Given the description of an element on the screen output the (x, y) to click on. 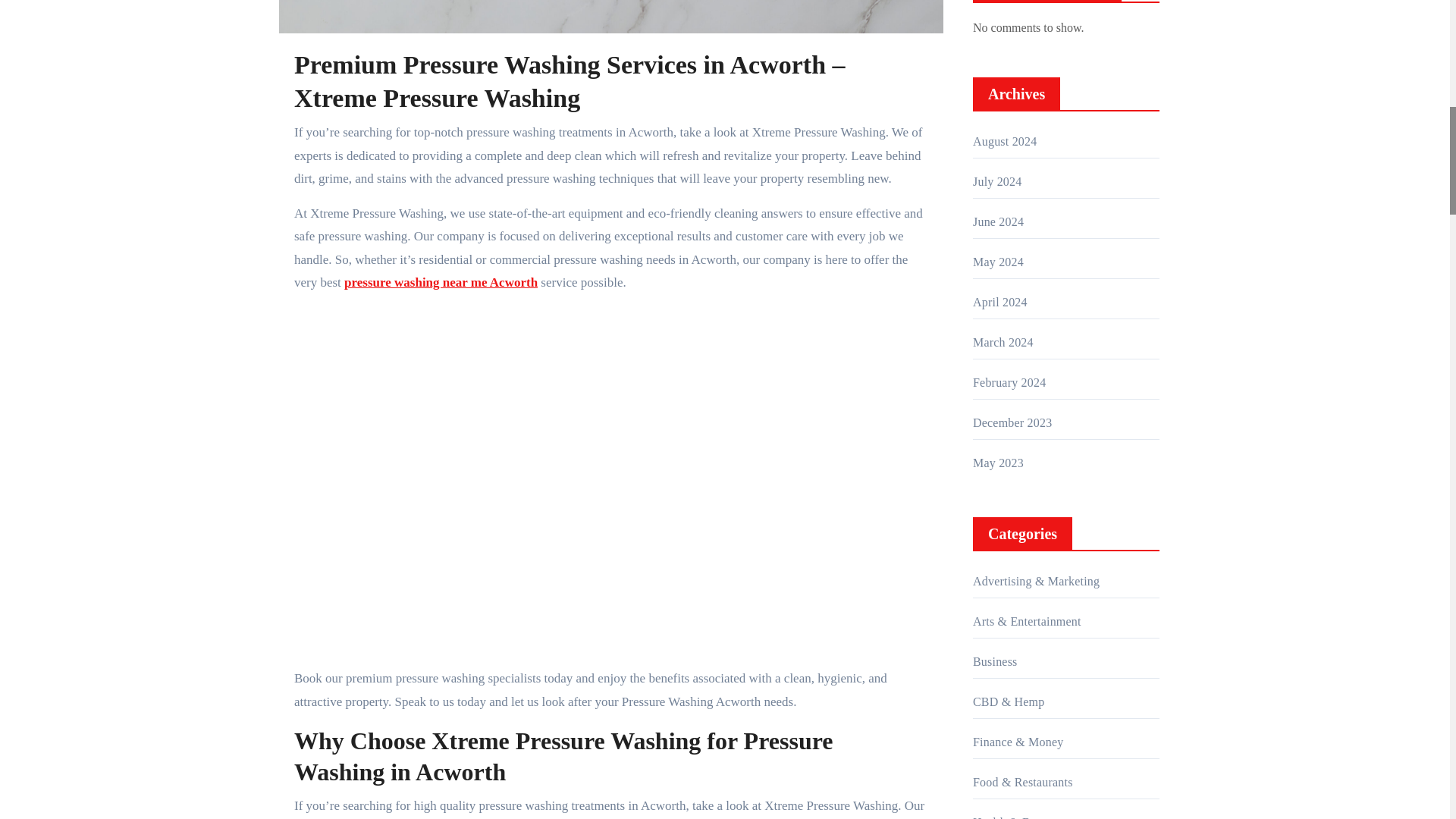
pressure washing near me Acworth (440, 282)
